Given the description of an element on the screen output the (x, y) to click on. 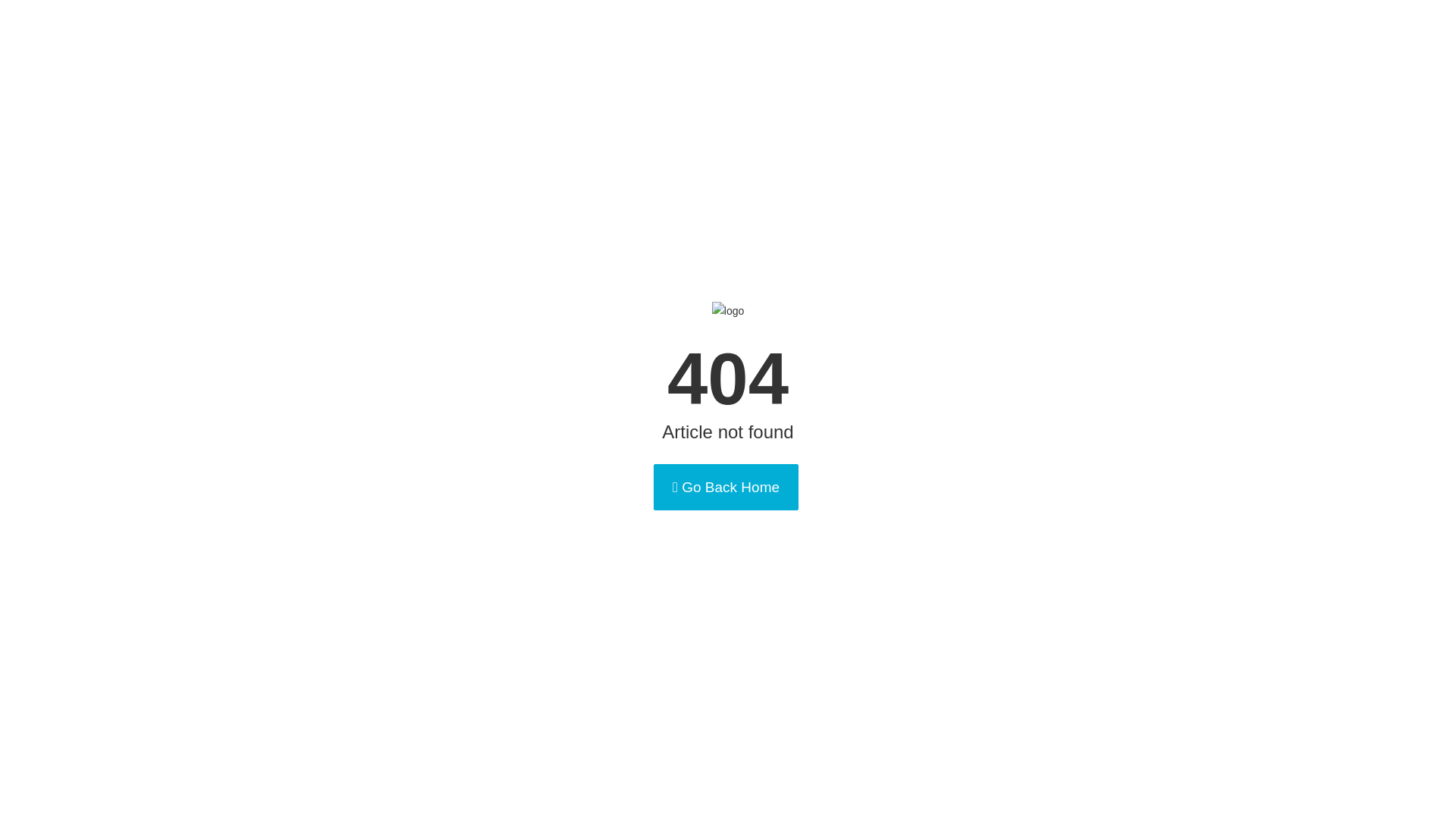
Go Back Home Element type: text (725, 487)
